Given the description of an element on the screen output the (x, y) to click on. 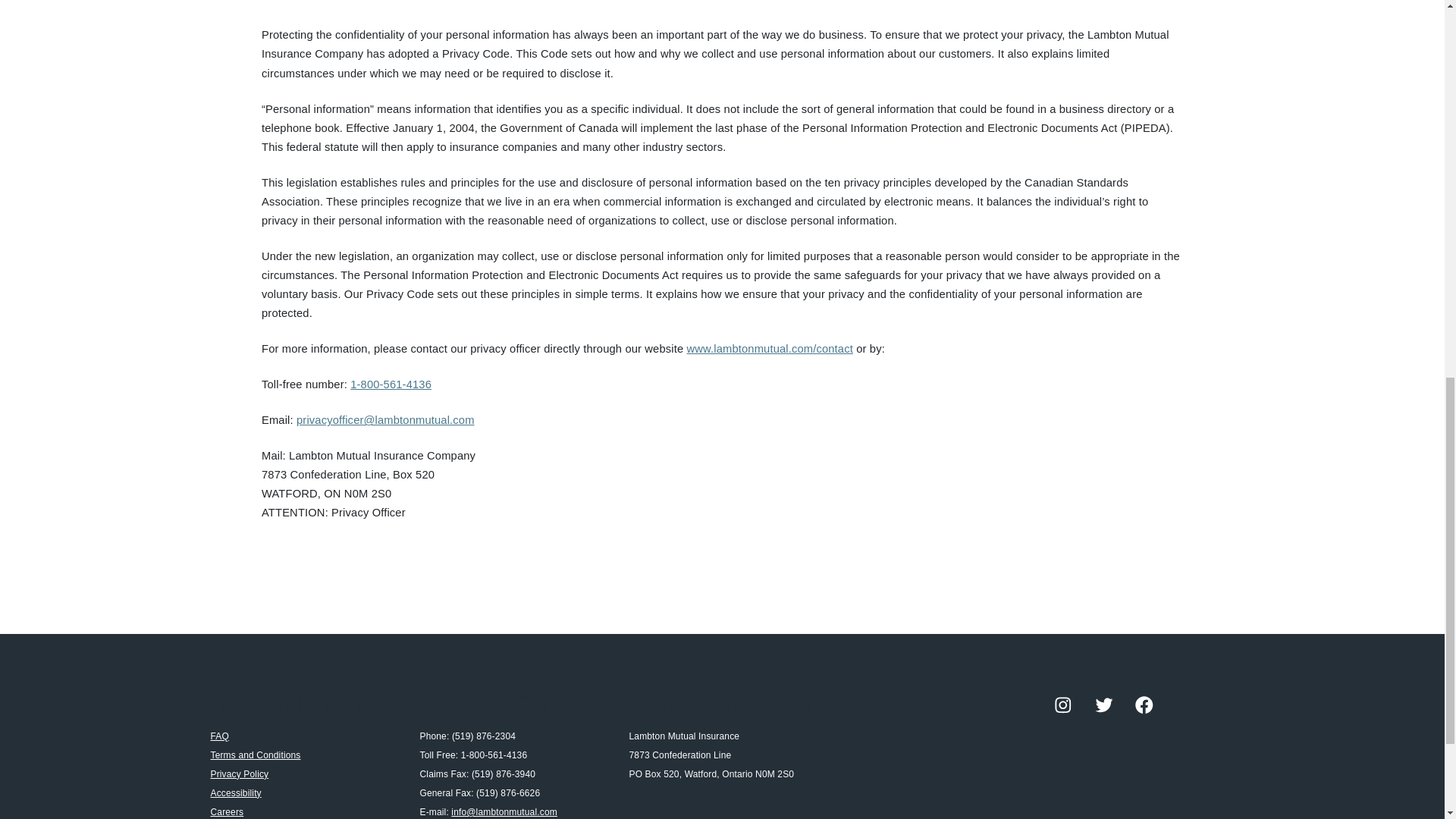
Terms and Conditions (256, 755)
Privacy Policy (240, 774)
Accessibility (236, 792)
FAQ (219, 736)
1-800-561-4136 (390, 384)
